Given the description of an element on the screen output the (x, y) to click on. 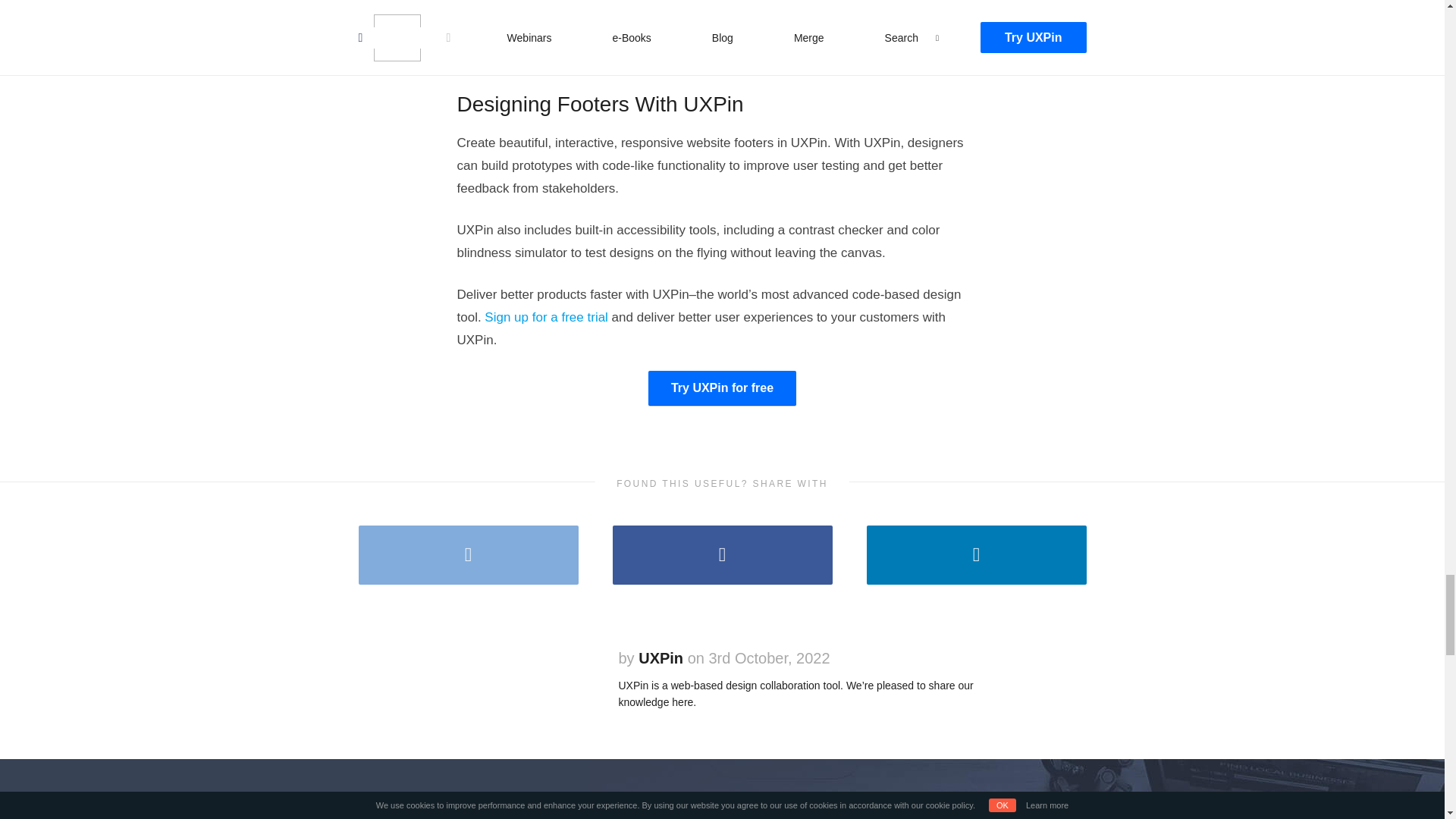
Share on Linkedin (976, 554)
Share on Twitter (468, 554)
Share on Facebook (722, 554)
